Given the description of an element on the screen output the (x, y) to click on. 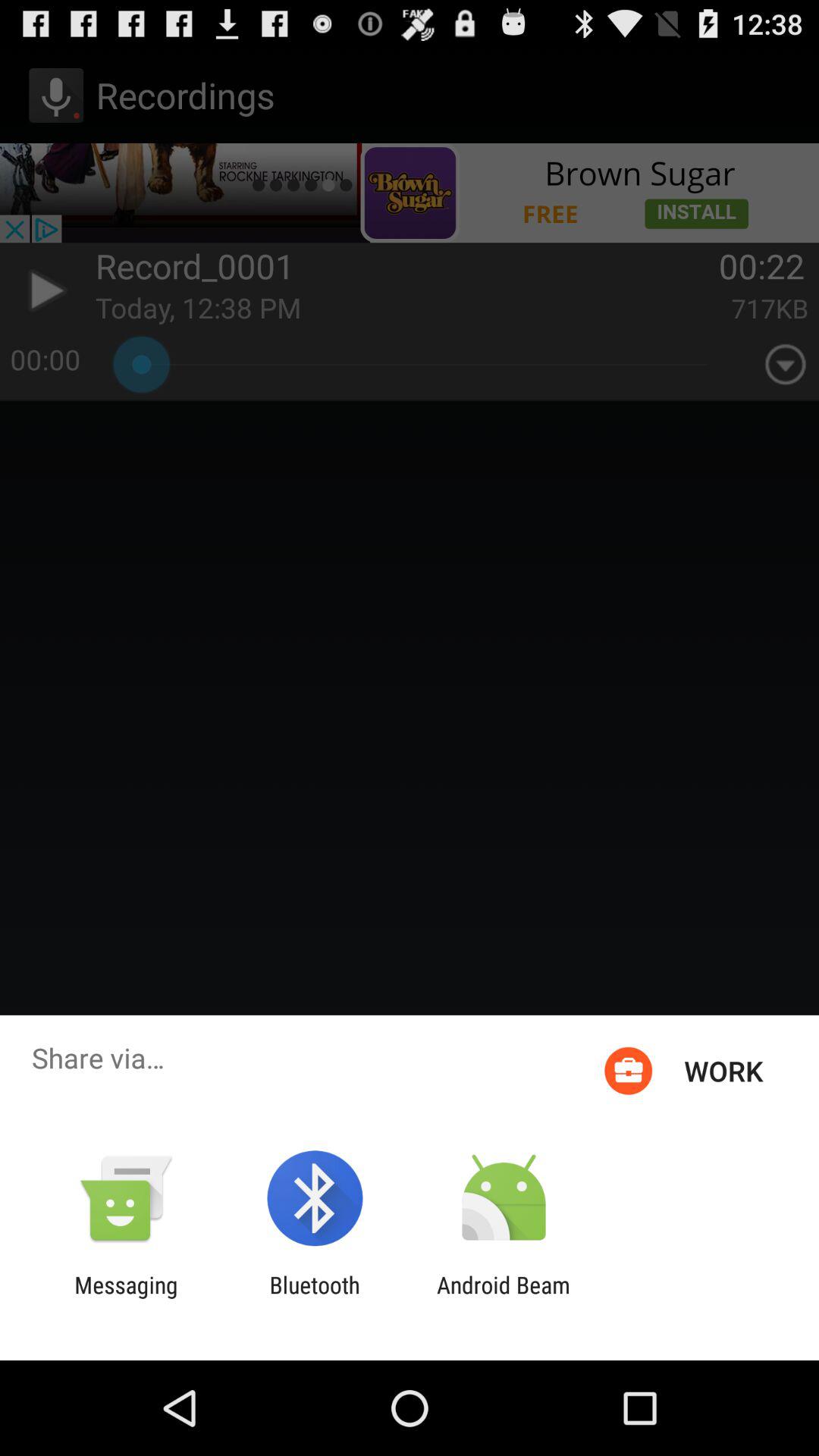
turn on the icon to the left of the android beam (314, 1298)
